Given the description of an element on the screen output the (x, y) to click on. 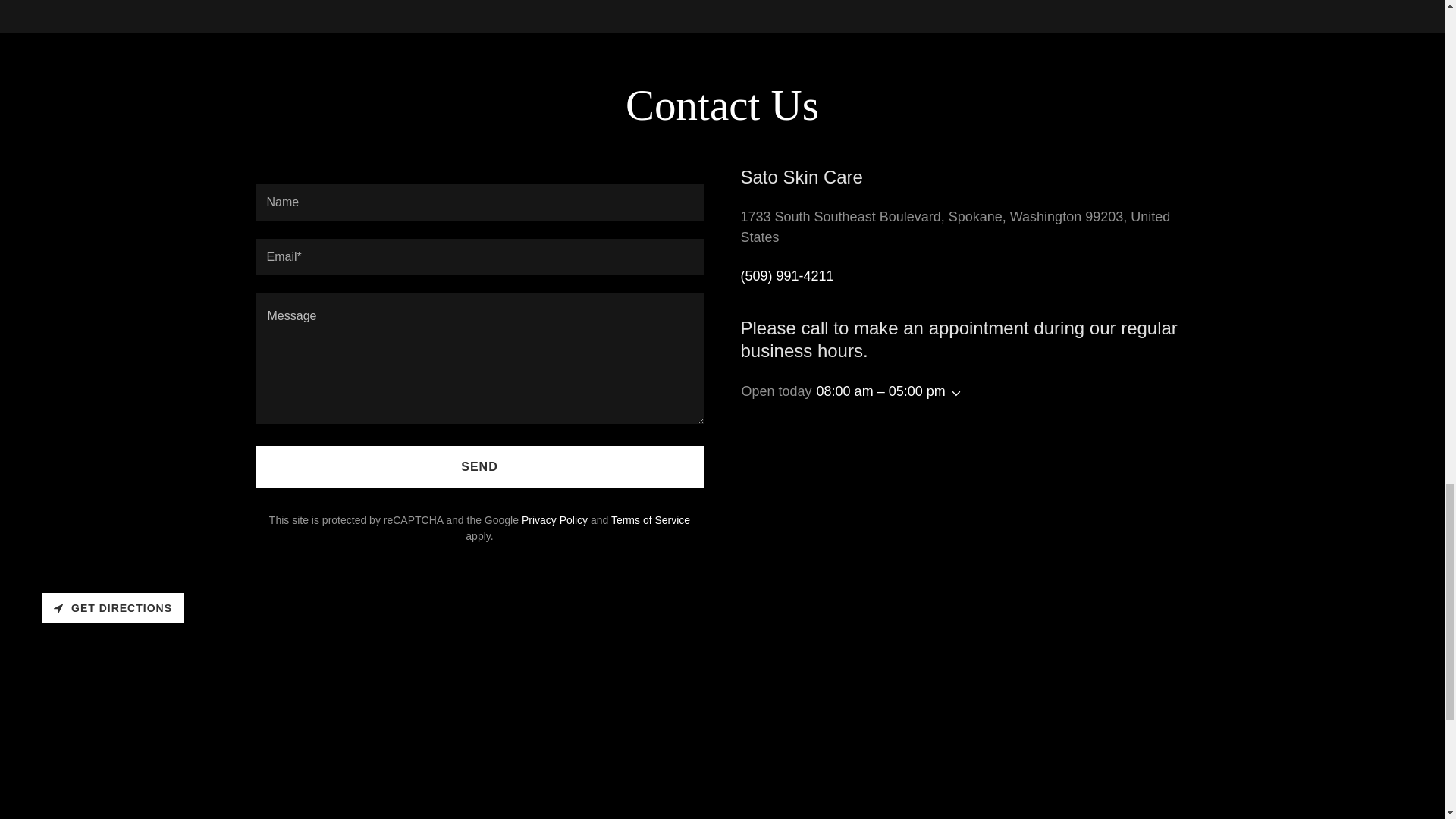
Terms of Service (650, 520)
GET DIRECTIONS (113, 607)
Privacy Policy (554, 520)
SEND (478, 466)
